Given the description of an element on the screen output the (x, y) to click on. 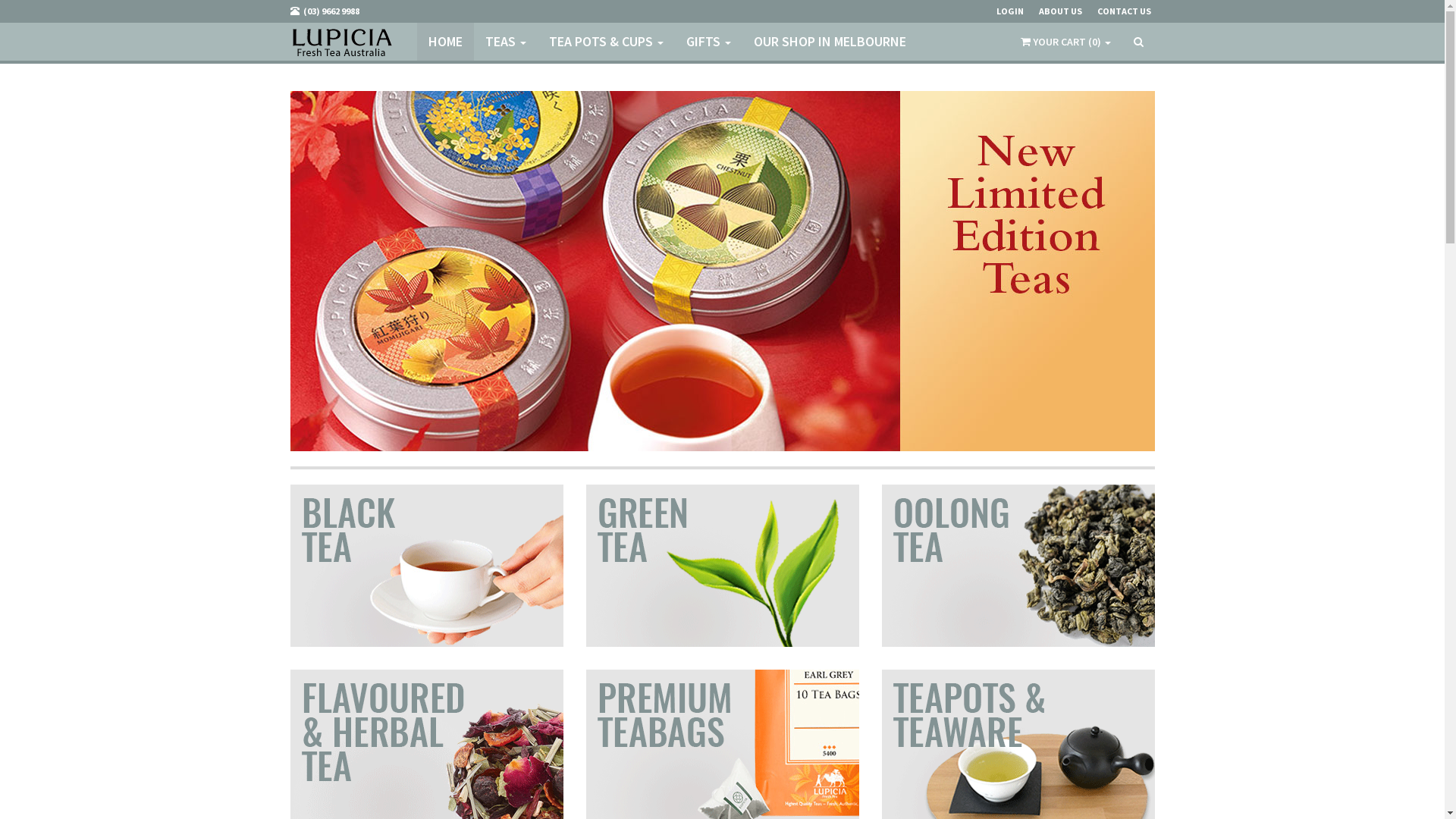
Oolong Tea Element type: hover (1017, 565)
OUR SHOP IN MELBOURNE Element type: text (828, 41)
CONTACT US Element type: text (1130, 11)
Black Tea Element type: hover (425, 565)
LOGIN Element type: text (1017, 11)
YOUR CART (0) Element type: text (1065, 41)
HOME Element type: text (445, 41)
ABOUT US Element type: text (1067, 11)
Green Tea Element type: hover (721, 565)
GIFTS Element type: text (708, 41)
(03) 9662 9988 Element type: text (331, 11)
TEA POTS & CUPS Element type: text (605, 41)
TEAS Element type: text (504, 41)
